Given the description of an element on the screen output the (x, y) to click on. 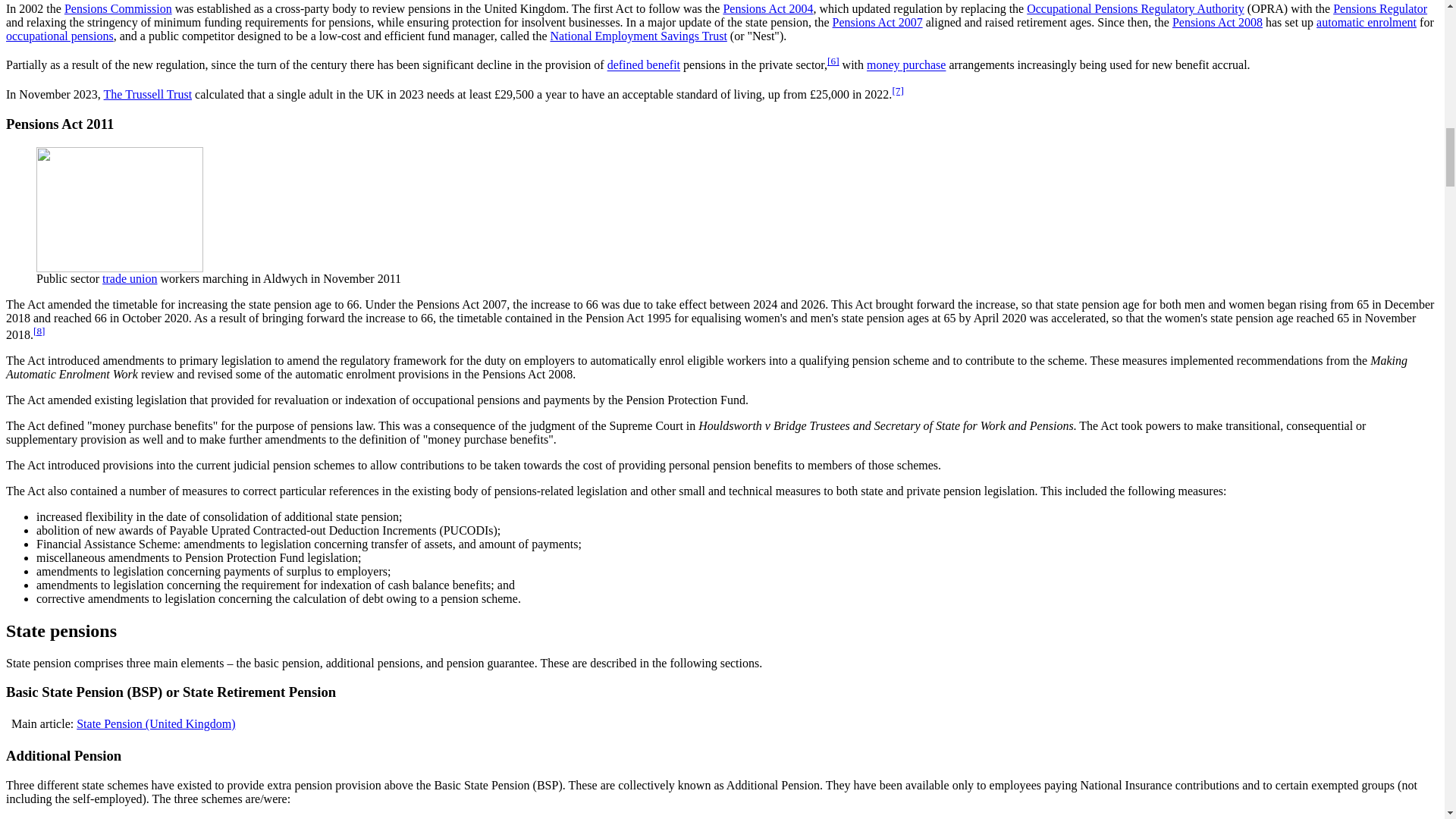
Pensions Commission (117, 8)
Pensions Act 2004 (767, 8)
Pensions Act 2007 (877, 21)
Pensions Regulator (1379, 8)
Occupational Pensions Regulatory Authority (1135, 8)
Pensions Act 2008 (1217, 21)
